Given the description of an element on the screen output the (x, y) to click on. 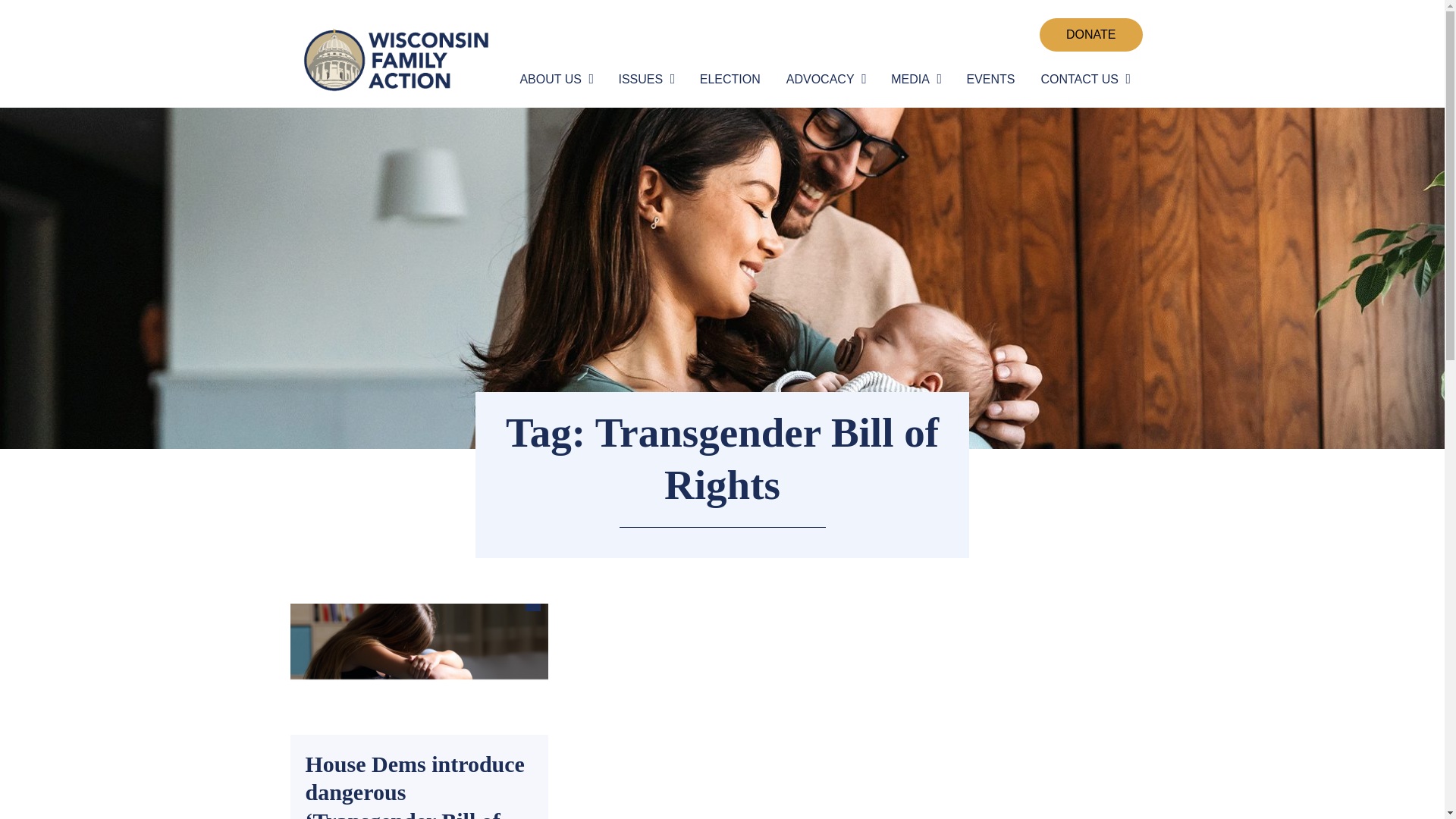
Contact Us (1082, 79)
ADVOCACY (823, 79)
About Us (552, 79)
Events (989, 79)
Issues (643, 79)
ELECTION (730, 79)
Election (730, 79)
CONTACT US (1082, 79)
DONATE (1090, 34)
EVENTS (989, 79)
